Given the description of an element on the screen output the (x, y) to click on. 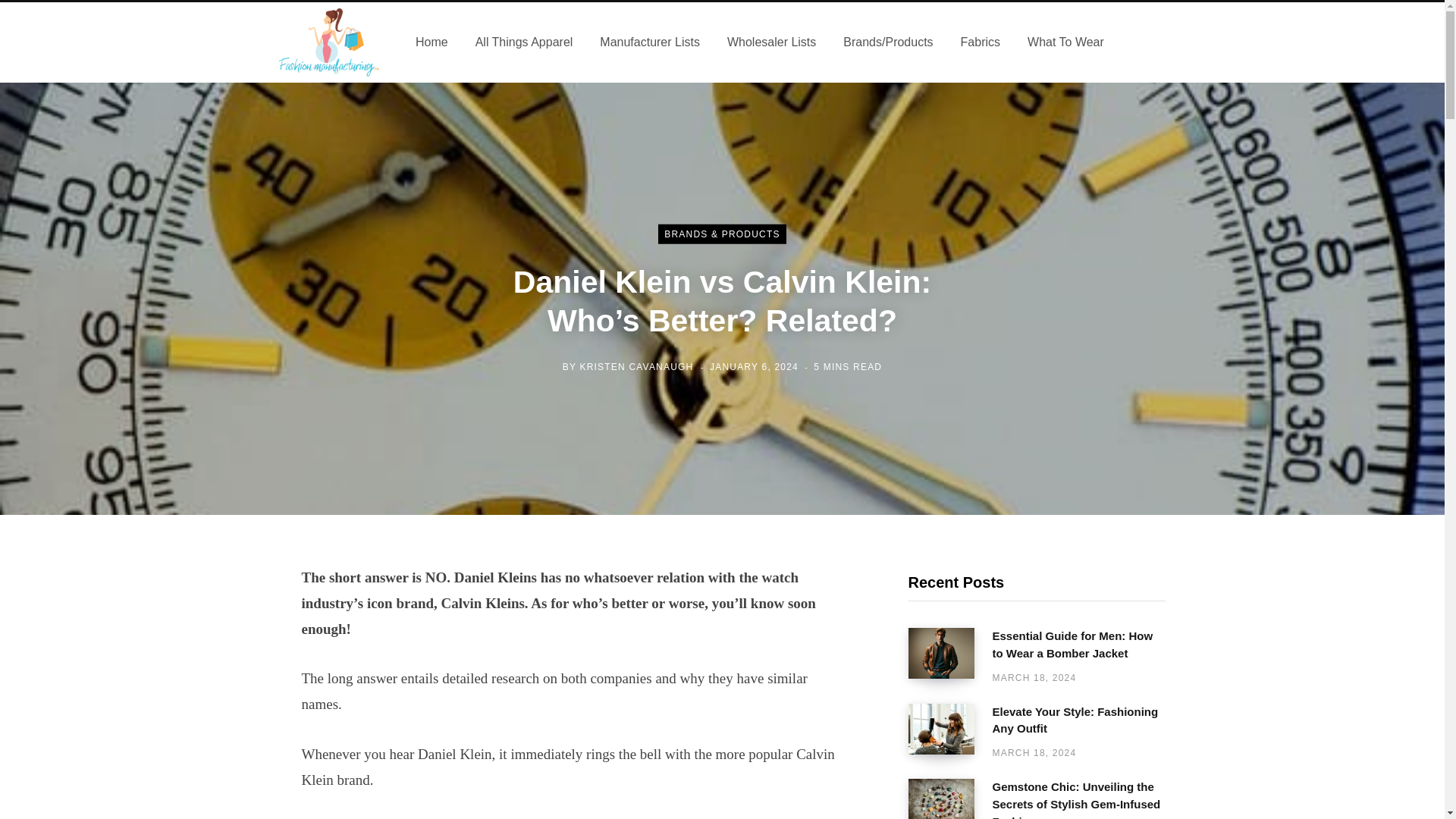
Fashion Manufacturing (328, 42)
Home (431, 41)
What To Wear (1065, 41)
KRISTEN CAVANAUGH (636, 366)
All Things Apparel (523, 41)
Manufacturer Lists (649, 41)
Wholesaler Lists (771, 41)
Posts by Kristen Cavanaugh (636, 366)
Fabrics (980, 41)
